Given the description of an element on the screen output the (x, y) to click on. 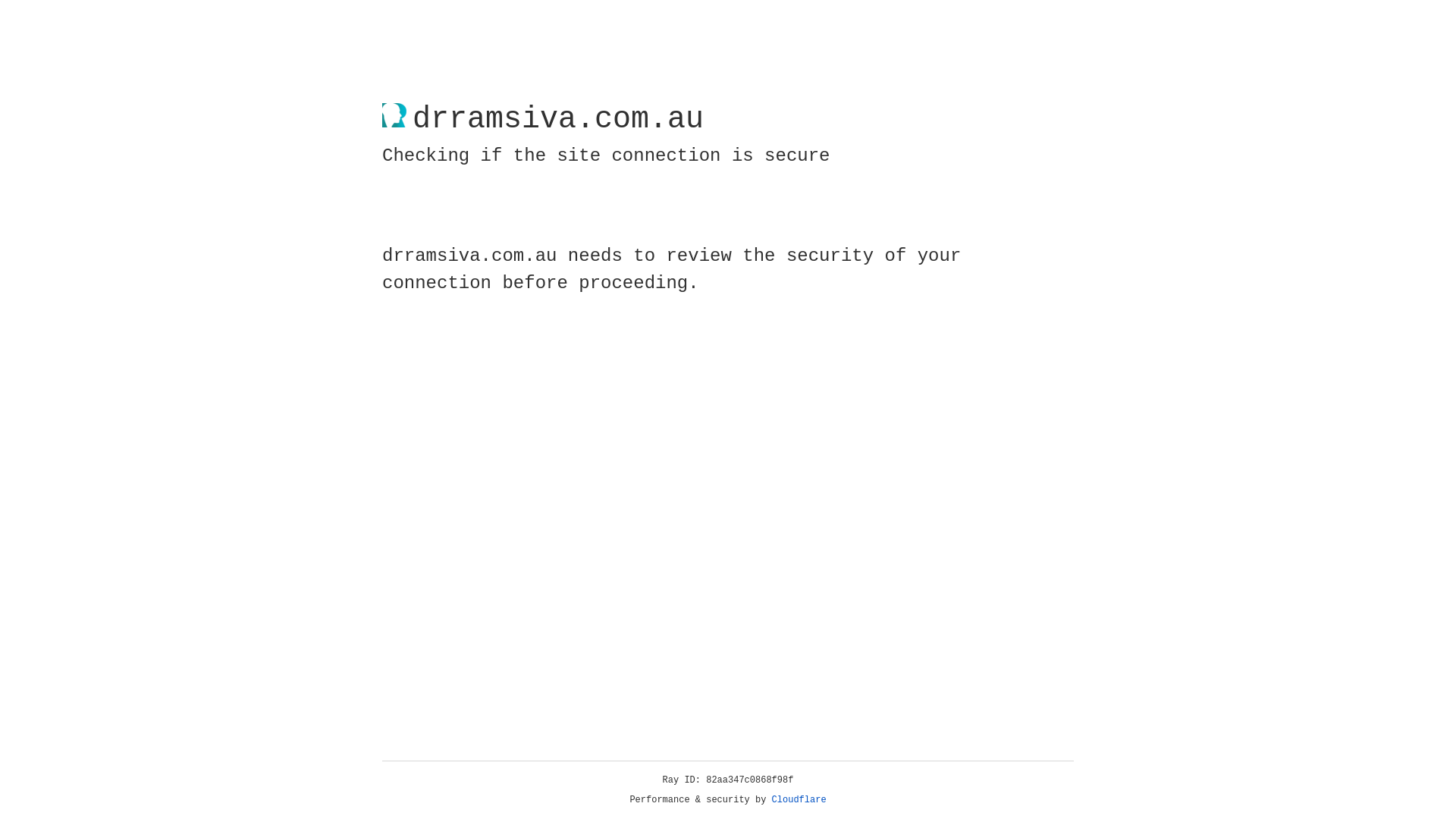
Cloudflare Element type: text (798, 799)
